Given the description of an element on the screen output the (x, y) to click on. 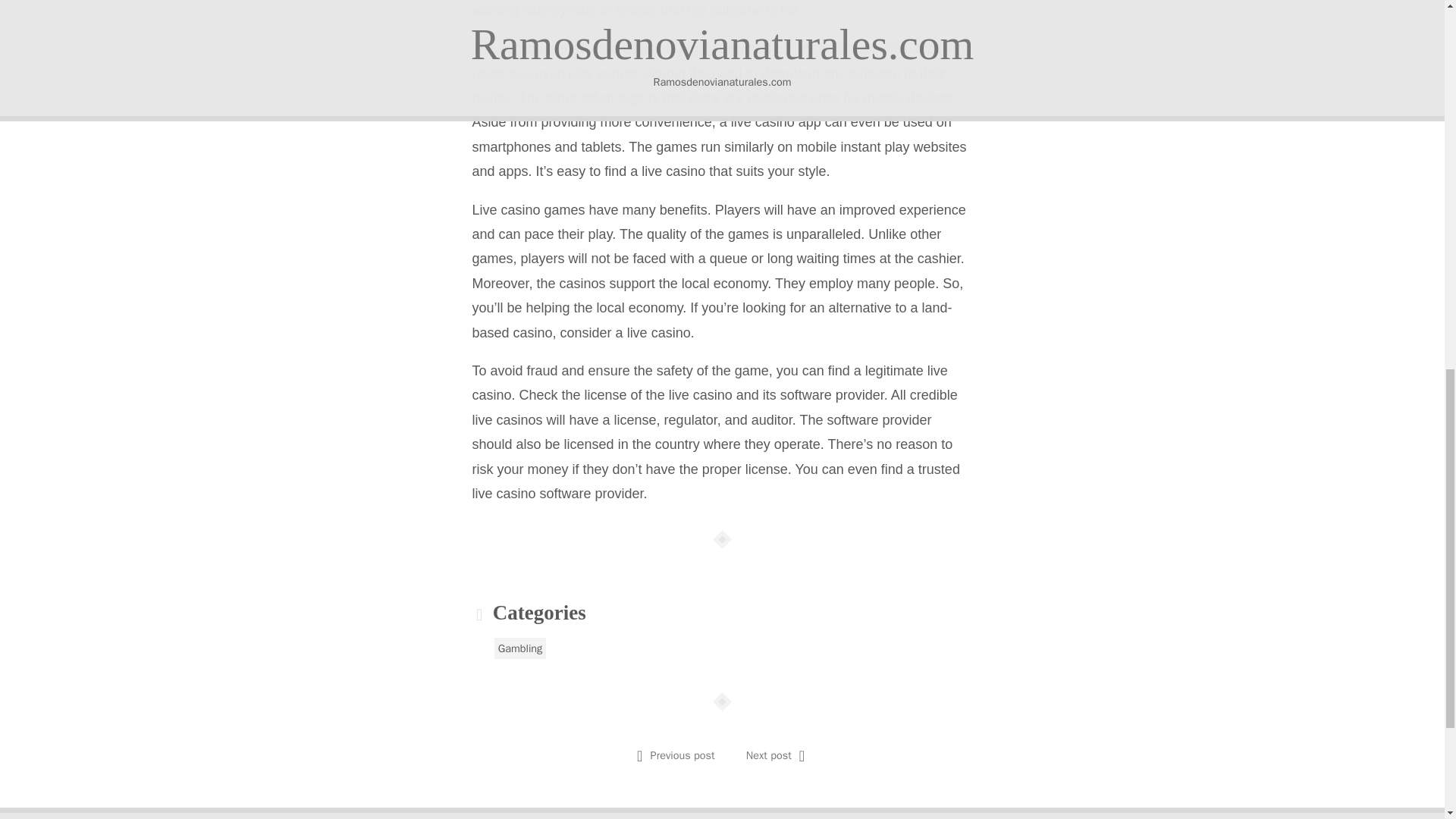
Gambling (521, 648)
Previous post (682, 755)
Next post (768, 755)
